Given the description of an element on the screen output the (x, y) to click on. 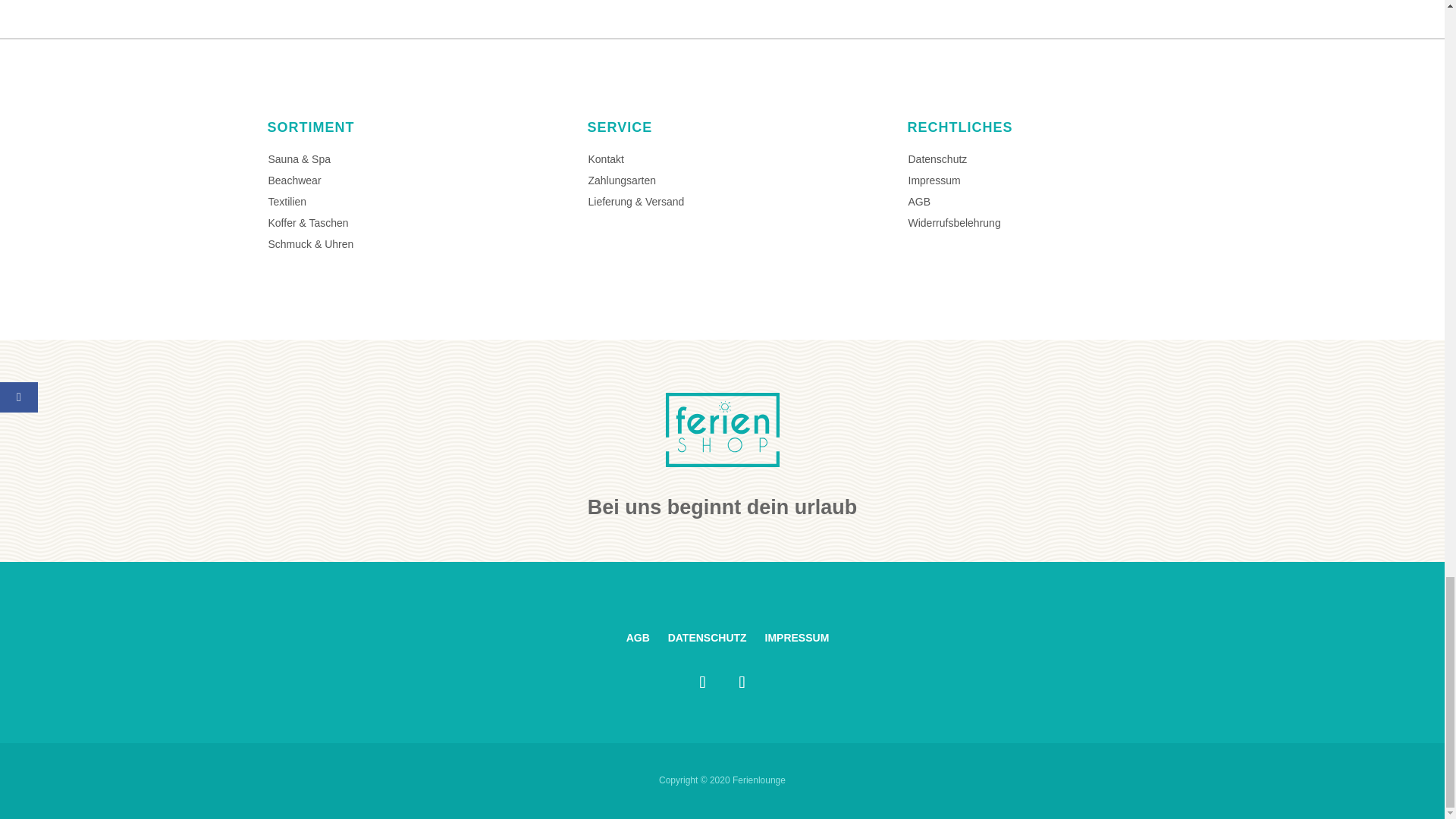
Folge auf Facebook (702, 682)
Folge auf Instagram (741, 682)
ferienshop-logo-dark (721, 429)
